Given the description of an element on the screen output the (x, y) to click on. 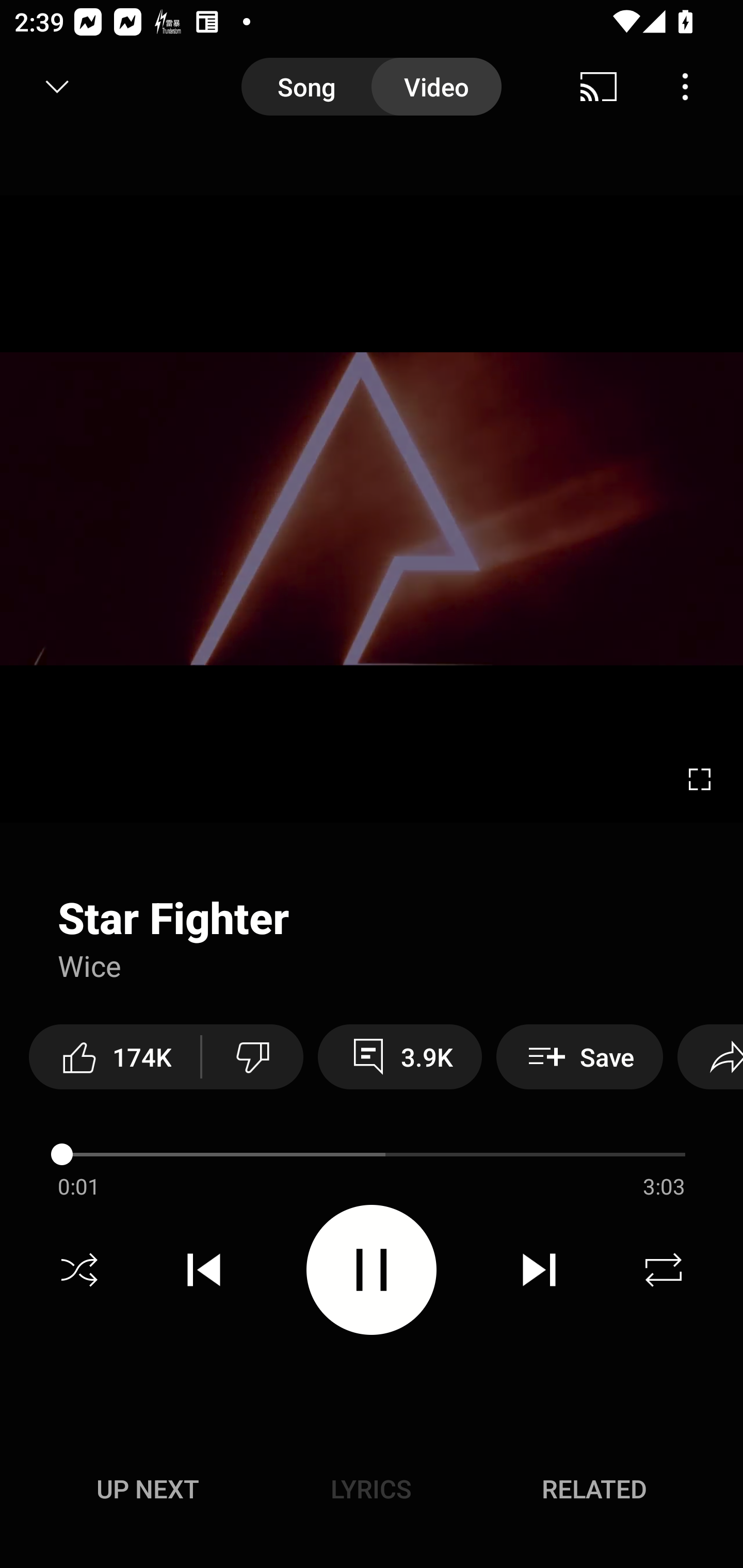
Minimize (57, 86)
Cast. Disconnected (598, 86)
Search (692, 86)
Enter fullscreen (699, 779)
Dislike (252, 1056)
3.9K View 3,986 comments (400, 1056)
Save Save to playlist (579, 1056)
Share (710, 1056)
Pause video (371, 1269)
Shuffle off (79, 1269)
Previous track (203, 1269)
Next track (538, 1269)
Repeat off (663, 1269)
Up next UP NEXT Lyrics LYRICS Related RELATED (371, 1491)
Lyrics LYRICS (370, 1488)
Related RELATED (594, 1488)
